Given the description of an element on the screen output the (x, y) to click on. 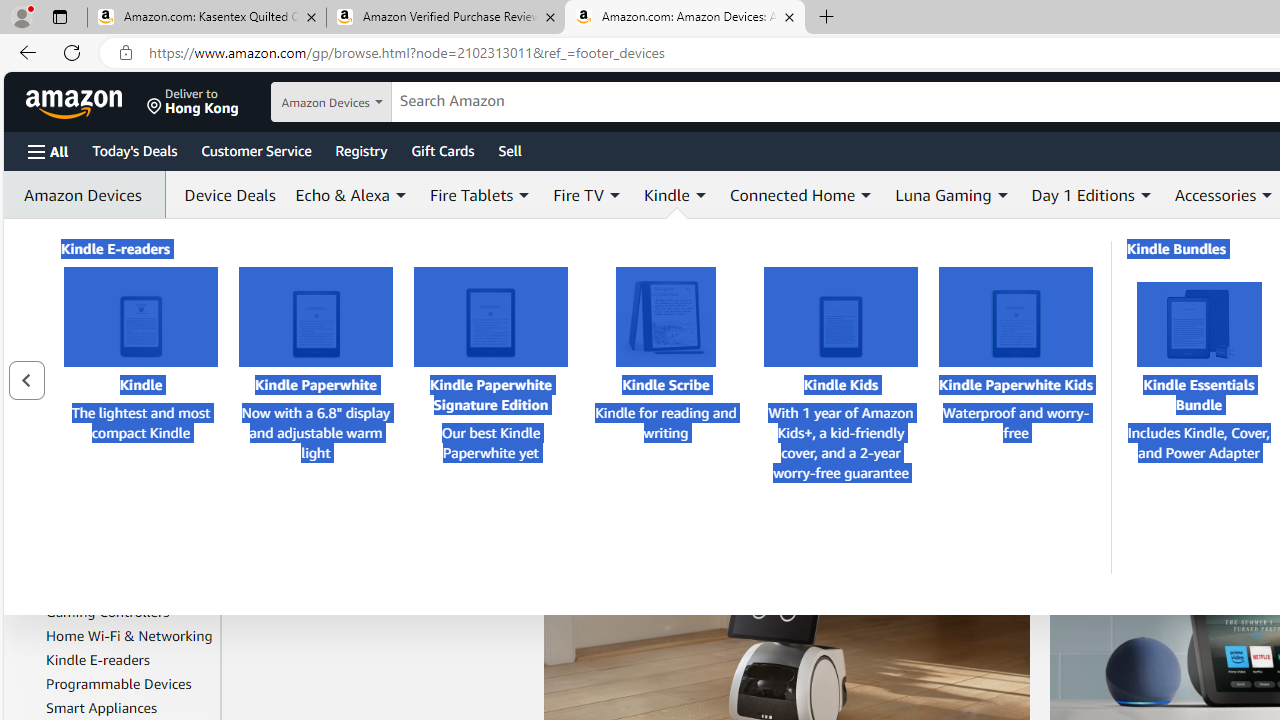
Amazon Devices (87, 195)
Kindle (665, 194)
Amazon Devices & Accessories (84, 394)
Luna Gaming (943, 194)
Amazon Devices (117, 427)
Earns commissions (676, 507)
Echo Smart Speakers & Displays (120, 529)
